Given the description of an element on the screen output the (x, y) to click on. 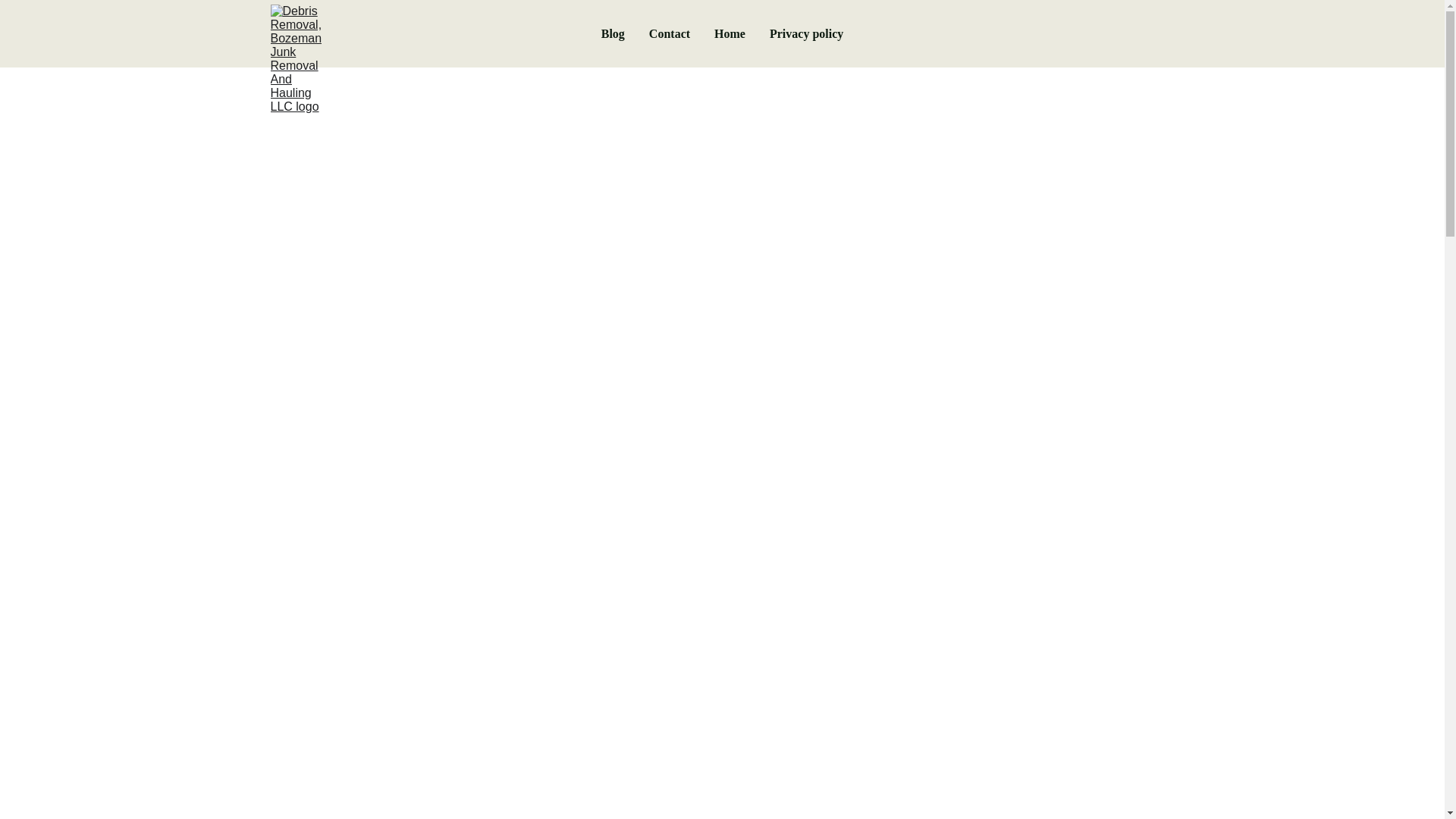
Privacy policy (806, 33)
Blog (612, 33)
Home (729, 33)
Contact (669, 33)
